Given the description of an element on the screen output the (x, y) to click on. 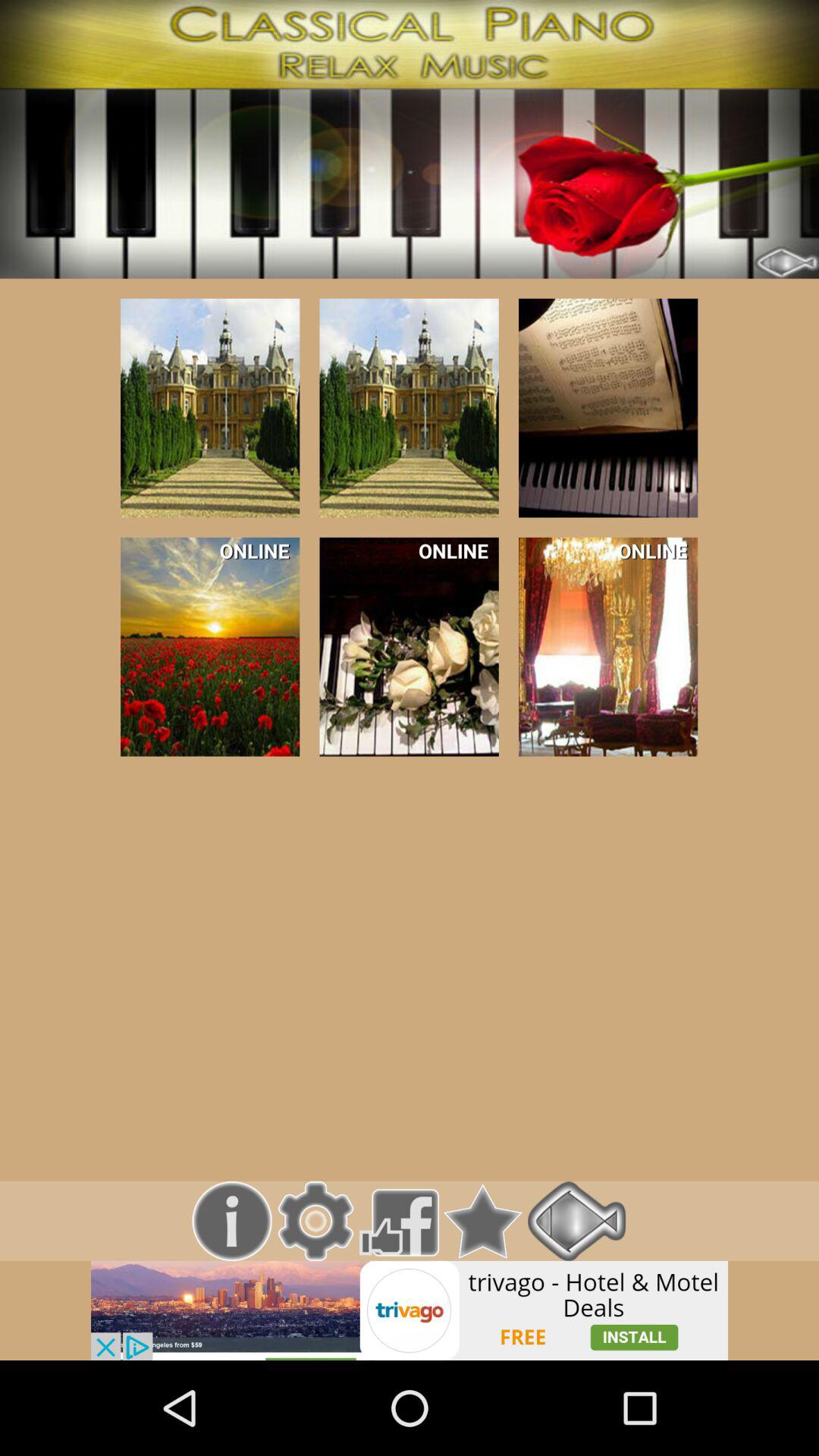
click to setting option (315, 1220)
